Given the description of an element on the screen output the (x, y) to click on. 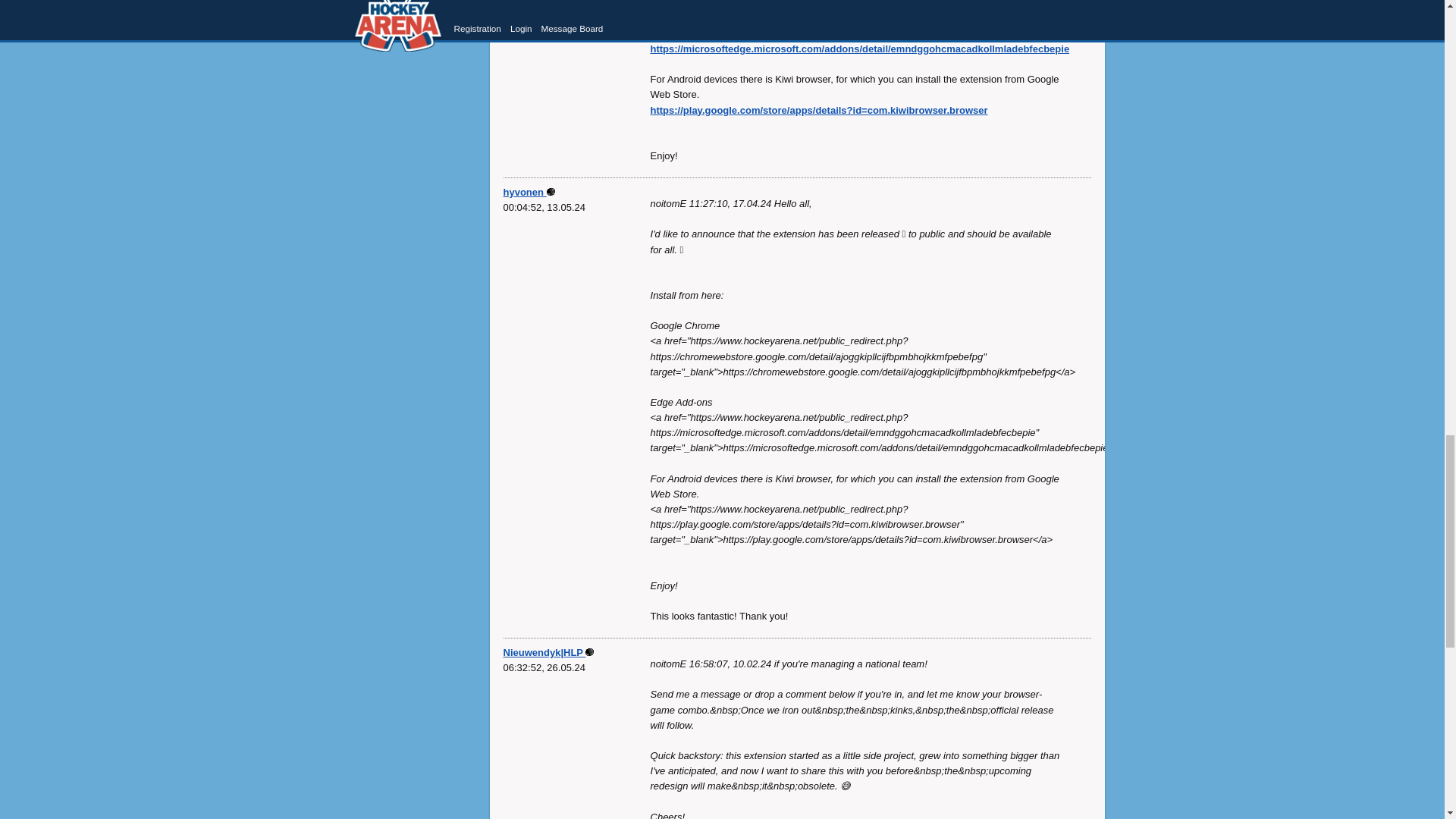
hyvonen (528, 192)
